Given the description of an element on the screen output the (x, y) to click on. 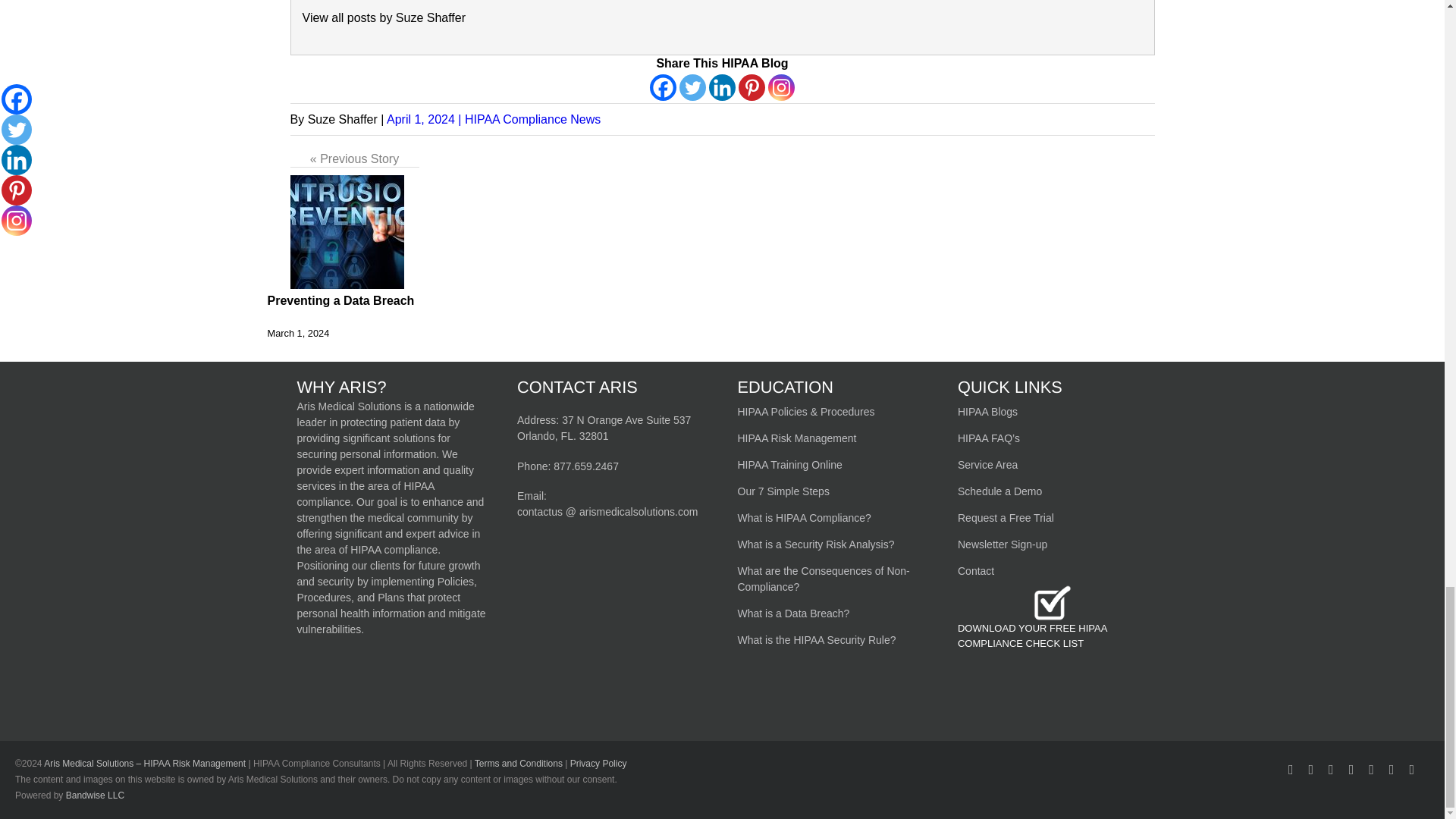
Pinterest (751, 87)
Twitter (692, 87)
Linkedin (722, 87)
Instagram (781, 87)
Facebook (663, 87)
